Given the description of an element on the screen output the (x, y) to click on. 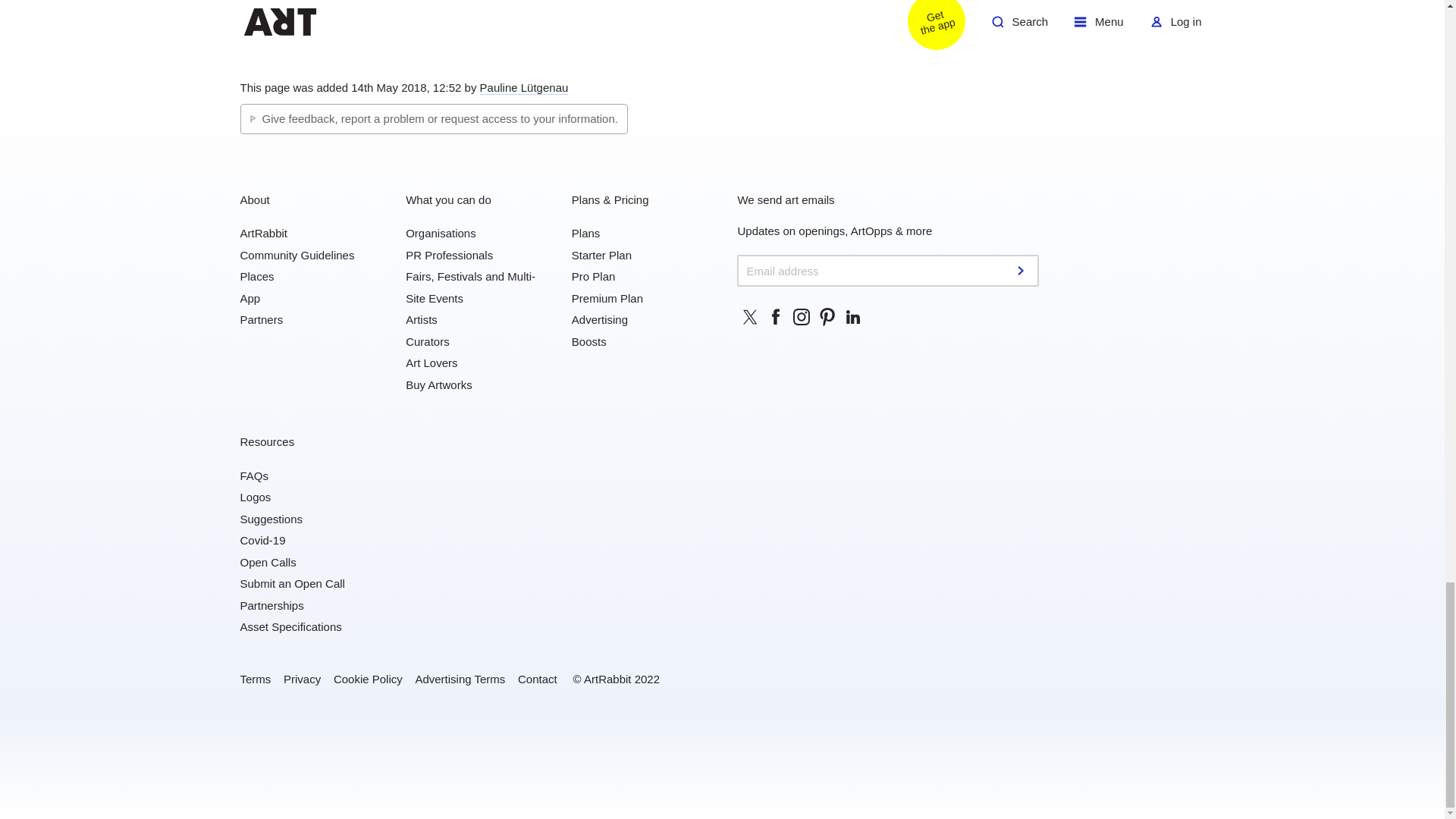
submit (1021, 270)
